Given the description of an element on the screen output the (x, y) to click on. 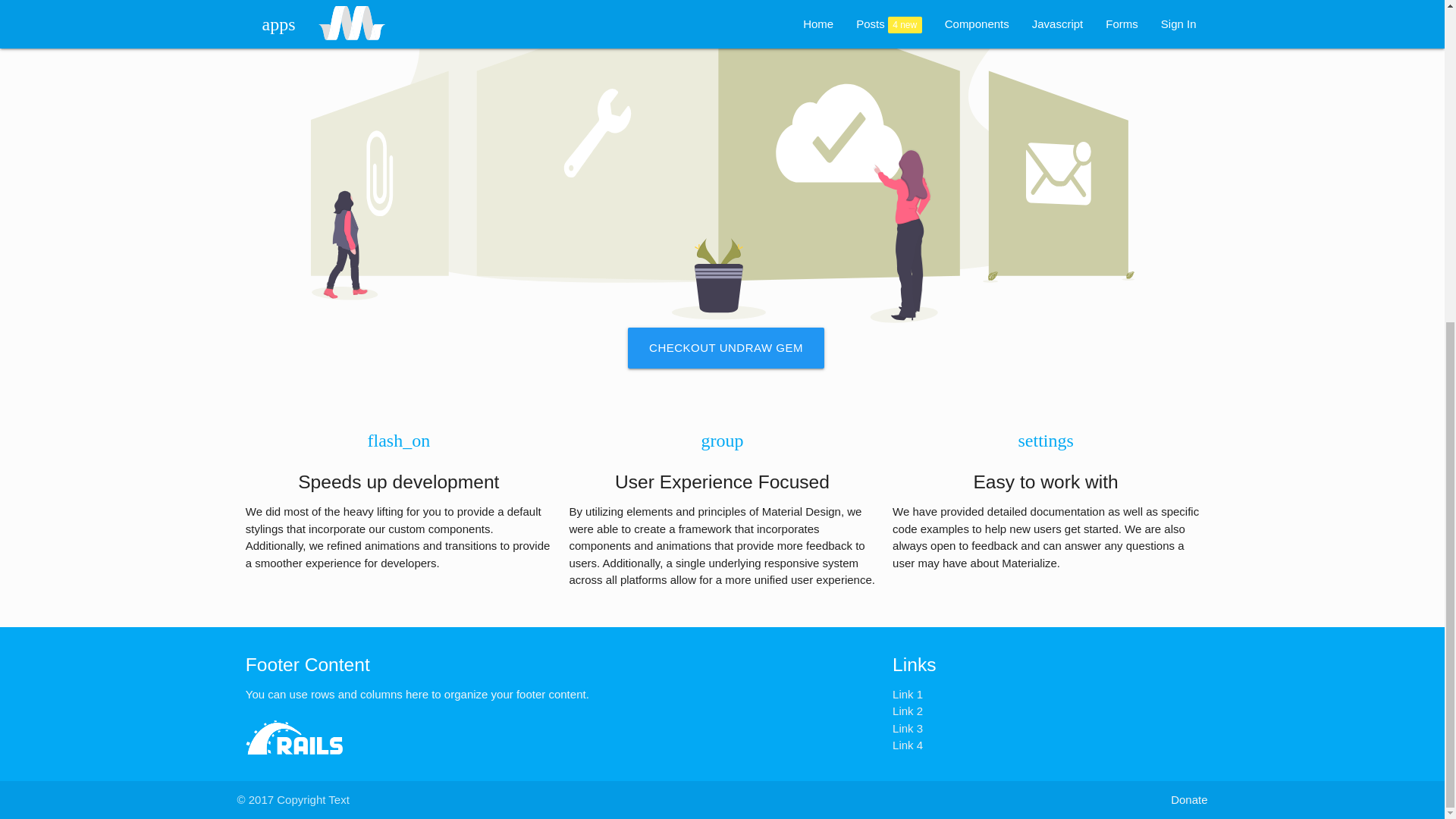
Link 1 (907, 694)
Donate (1188, 800)
Link 4 (907, 744)
Link 3 (907, 727)
CHECKOUT UNDRAW GEM (725, 347)
Link 2 (907, 710)
